Given the description of an element on the screen output the (x, y) to click on. 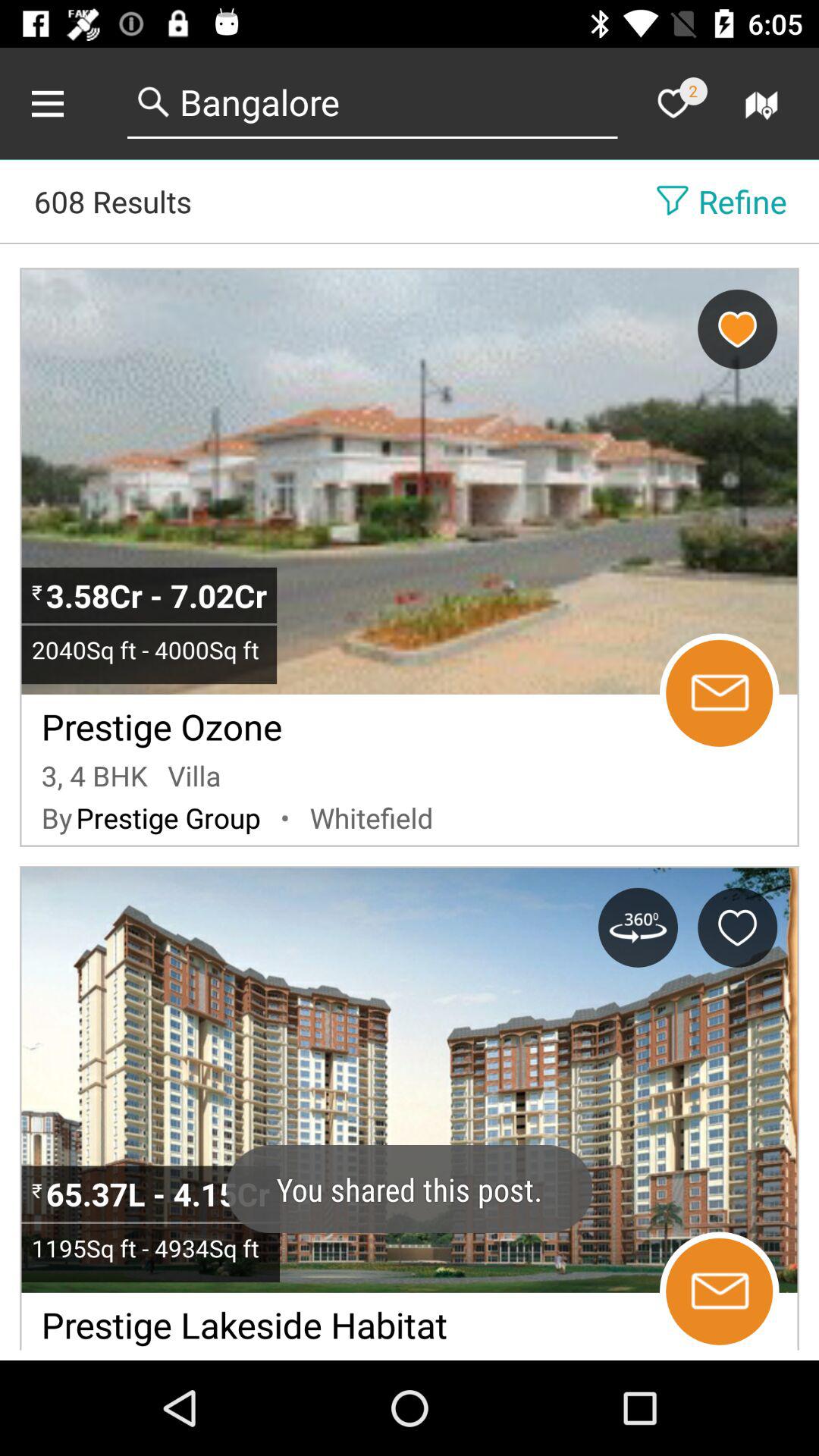
open the item below the prestige ozone (94, 775)
